Given the description of an element on the screen output the (x, y) to click on. 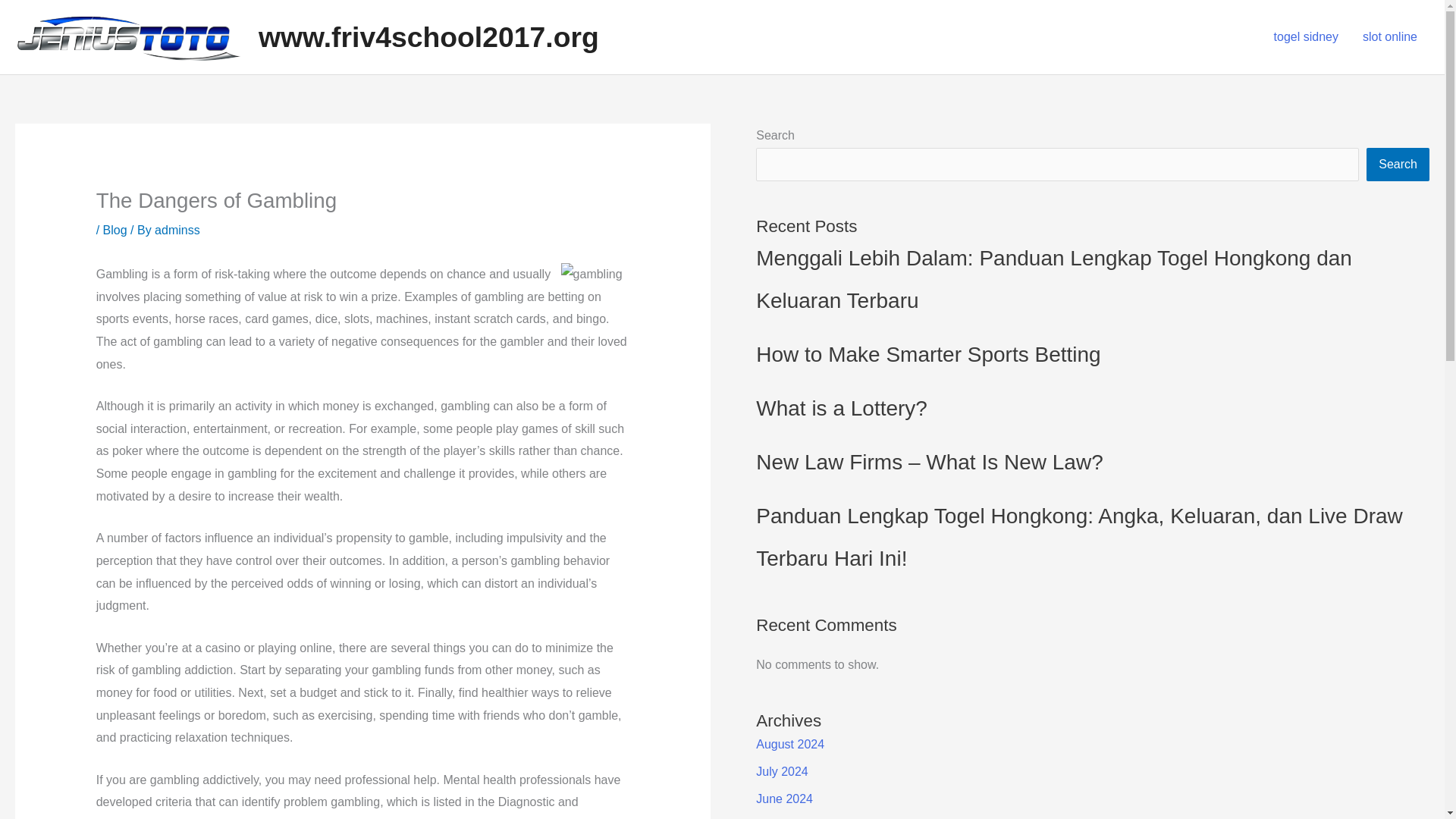
What is a Lottery? (841, 408)
August 2024 (789, 744)
www.friv4school2017.org (428, 37)
slot online (1390, 36)
Blog (115, 229)
togel sidney (1306, 36)
adminss (177, 229)
View all posts by adminss (177, 229)
How to Make Smarter Sports Betting (927, 354)
